Given the description of an element on the screen output the (x, y) to click on. 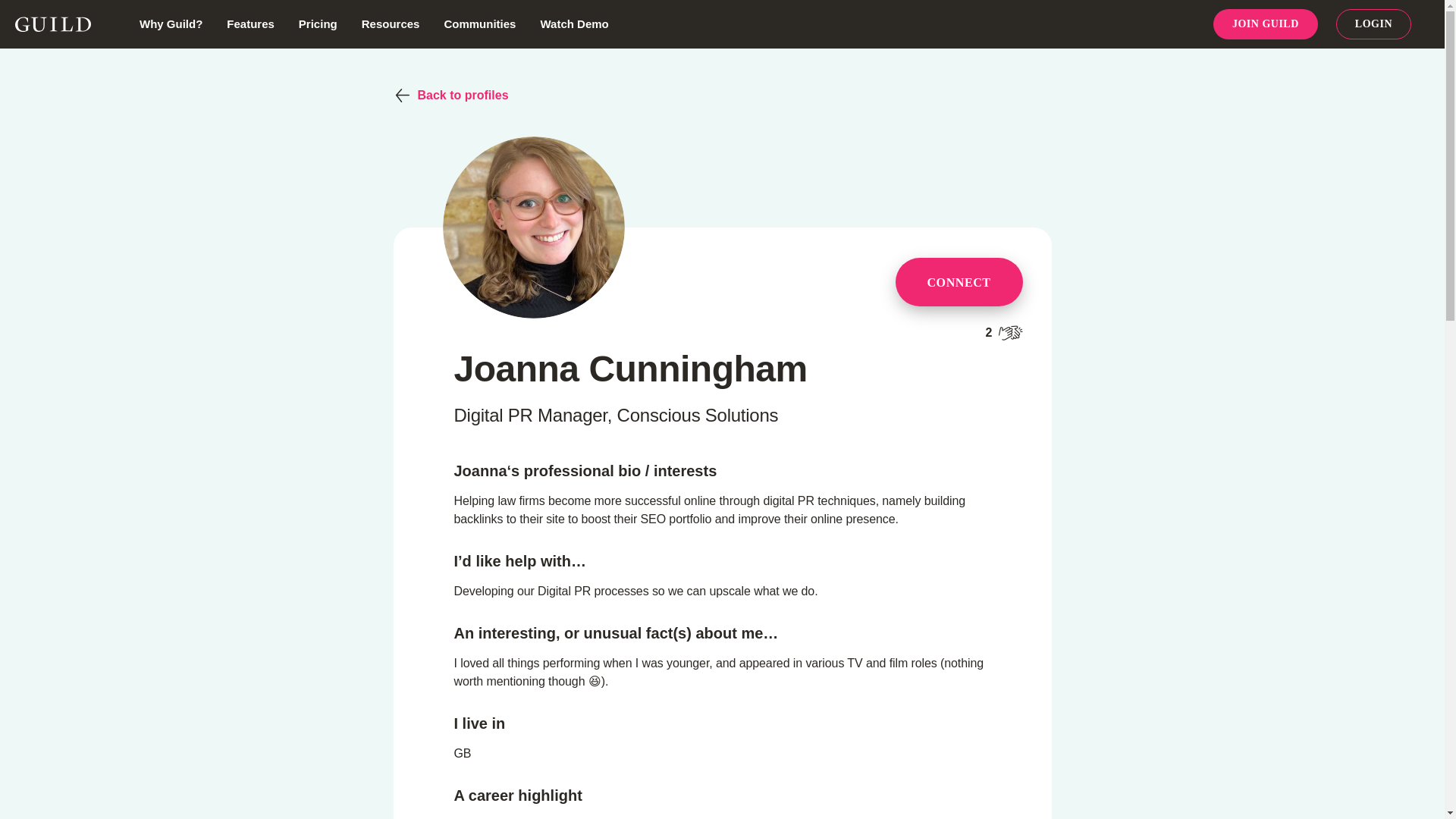
Back to profiles (722, 95)
JOIN GUILD (1264, 24)
LOGIN (1373, 24)
Watch Demo (574, 23)
Communities (479, 23)
CONNECT (958, 281)
Features (251, 23)
Resources (390, 23)
Why Guild? (170, 23)
Pricing (317, 23)
